Given the description of an element on the screen output the (x, y) to click on. 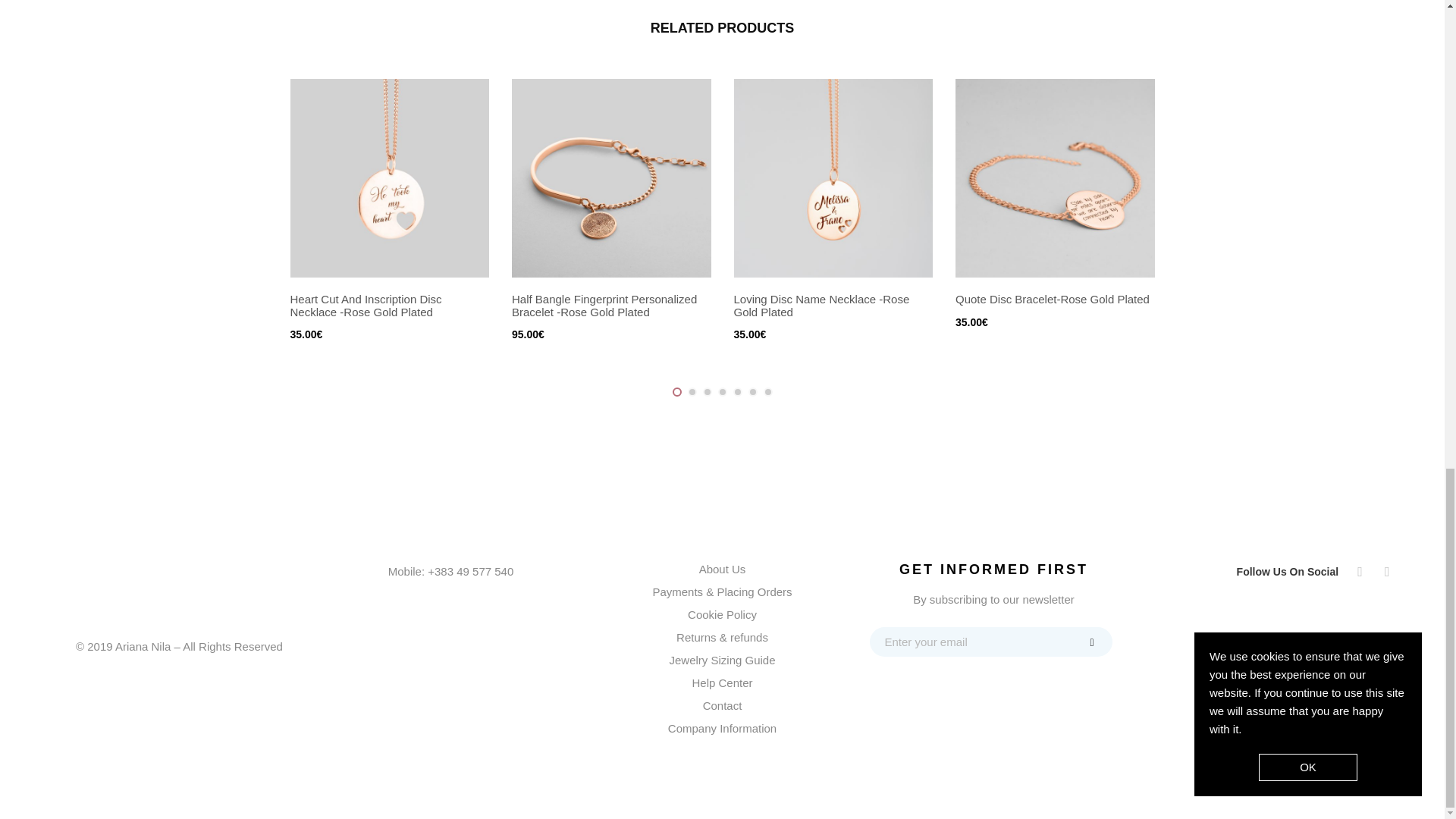
Facebook (1368, 571)
